Given the description of an element on the screen output the (x, y) to click on. 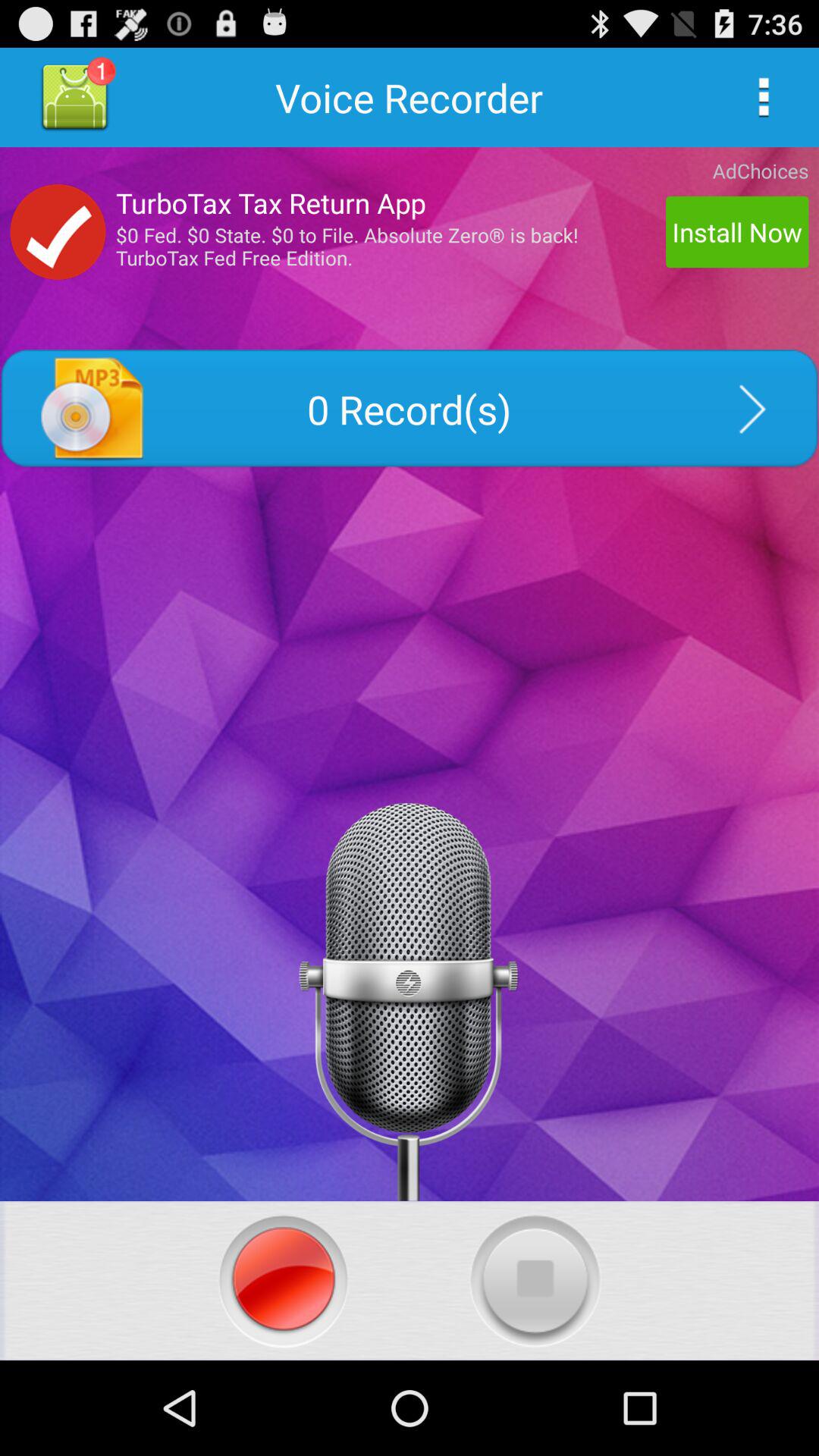
navigation menu (763, 97)
